Given the description of an element on the screen output the (x, y) to click on. 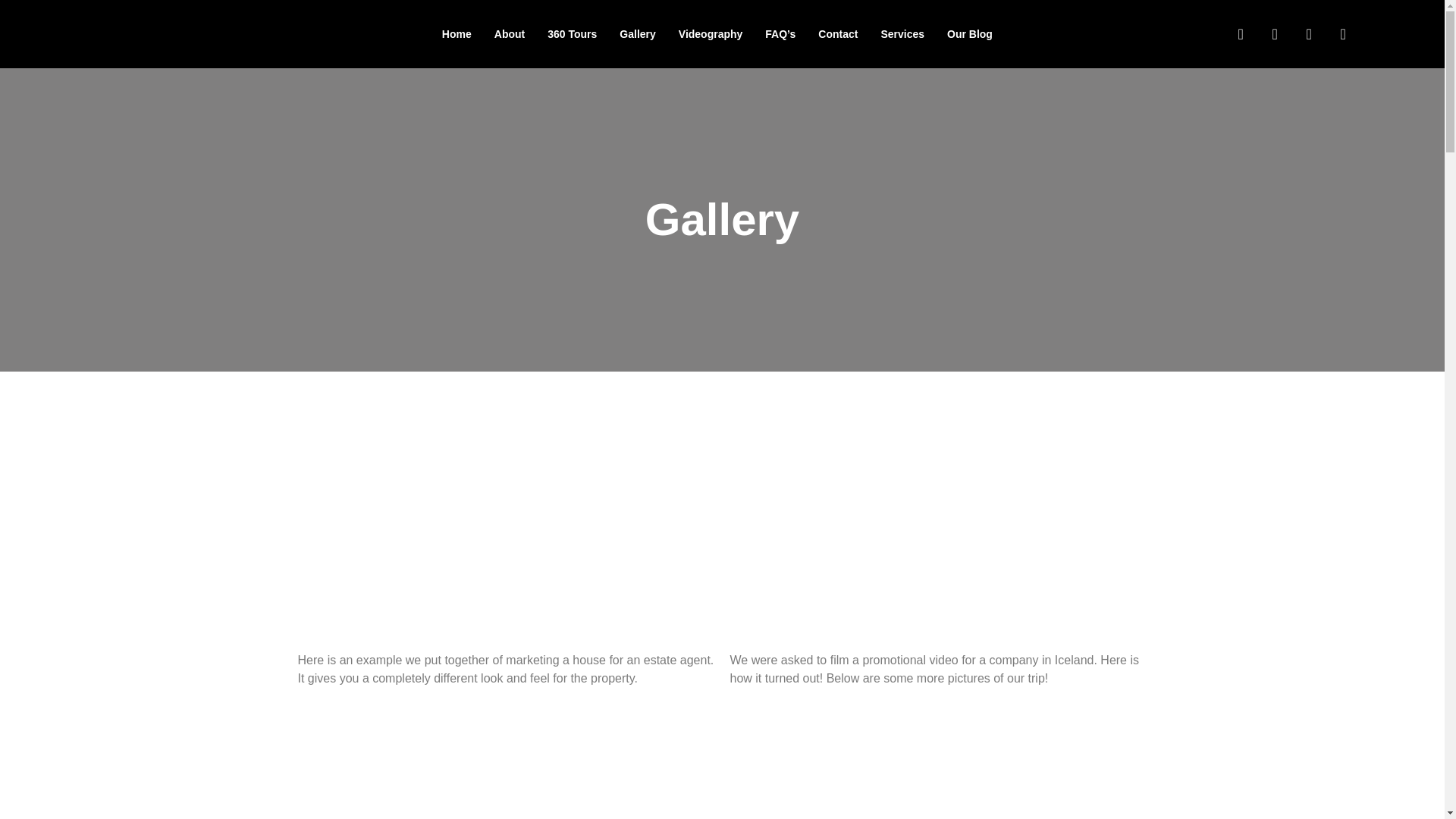
Our Blog (970, 33)
Contact (837, 33)
Videography (710, 33)
Services (902, 33)
360 Tours (571, 33)
